Given the description of an element on the screen output the (x, y) to click on. 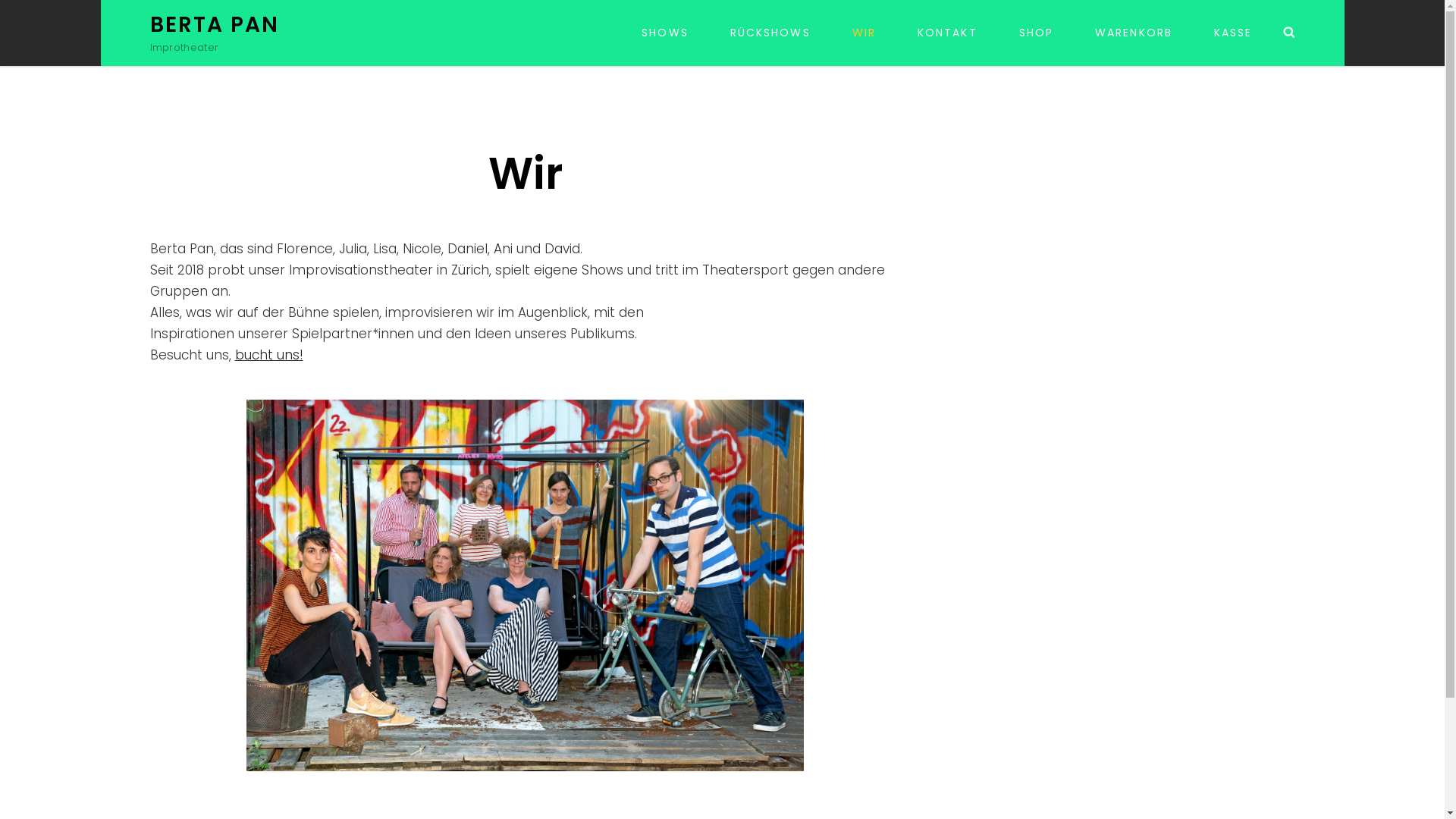
Search Element type: text (1288, 32)
BERTA PAN Element type: text (214, 24)
WARENKORB Element type: text (1133, 32)
KONTAKT Element type: text (947, 32)
SHOP Element type: text (1036, 32)
WIR Element type: text (863, 32)
SHOWS Element type: text (664, 32)
KASSE Element type: text (1233, 32)
bucht uns! Element type: text (269, 354)
